Given the description of an element on the screen output the (x, y) to click on. 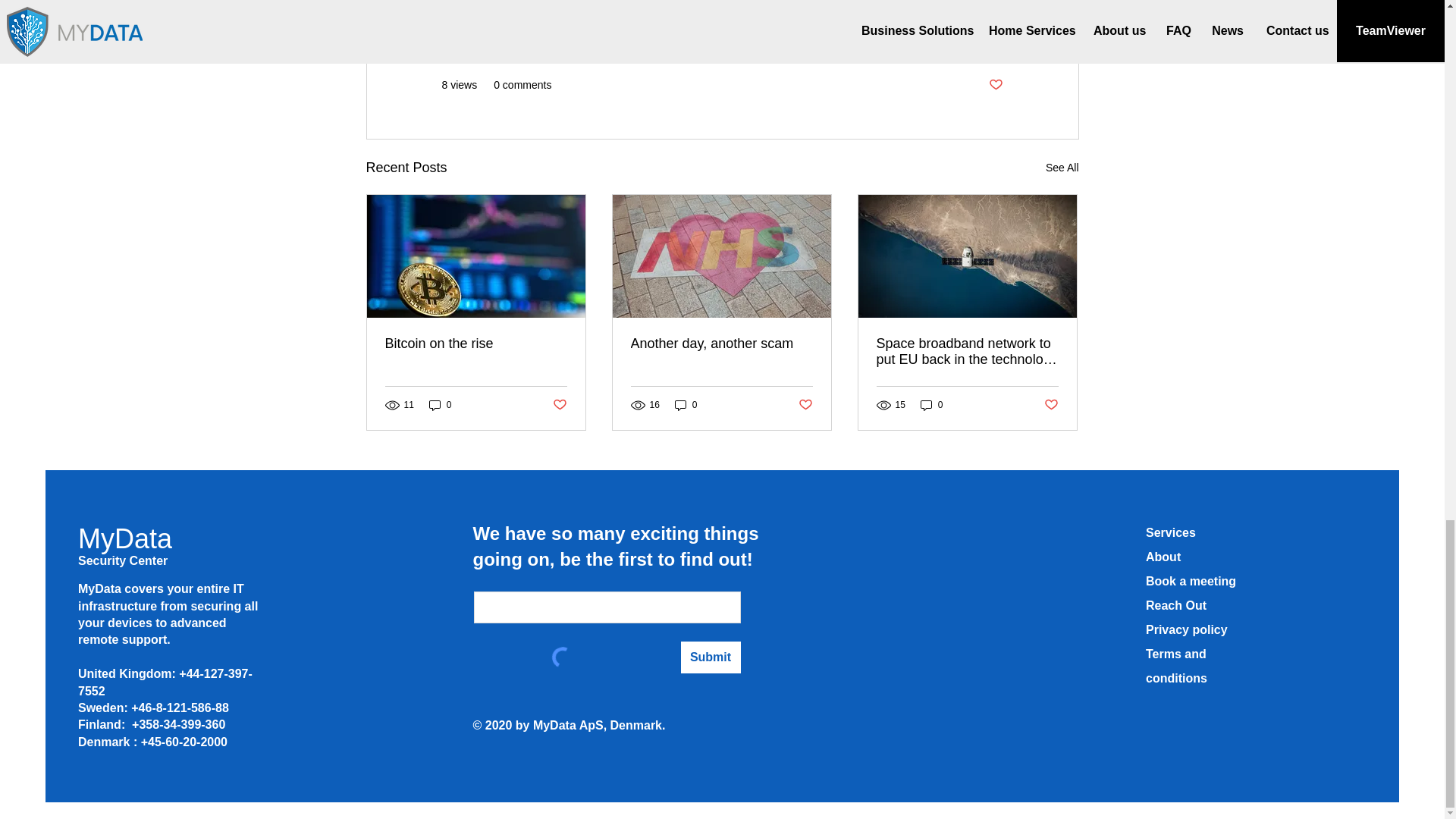
0 (685, 405)
0 (440, 405)
Another day, another scam (721, 343)
See All (1061, 168)
Post not marked as liked (1050, 405)
Post not marked as liked (558, 405)
Bitcoin on the rise (476, 343)
MyData (124, 538)
Post not marked as liked (804, 405)
